Given the description of an element on the screen output the (x, y) to click on. 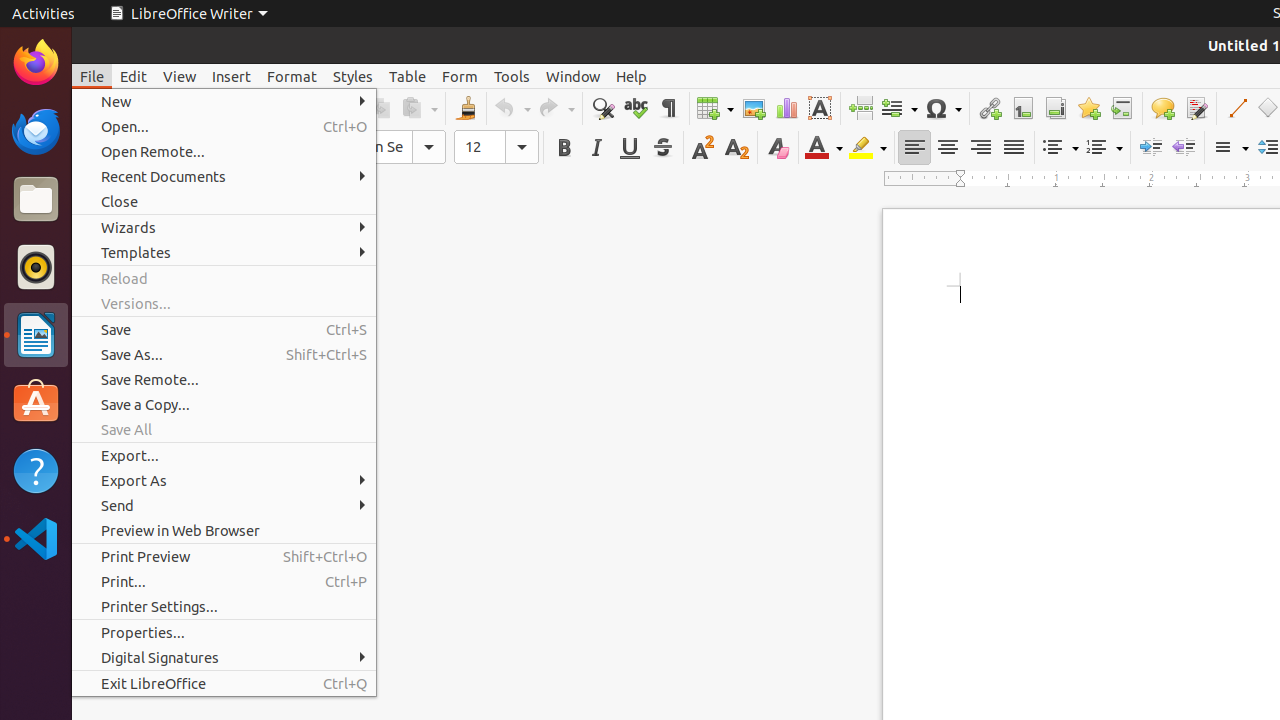
Wizards Element type: menu (224, 227)
Insert Element type: menu (231, 76)
Bold Element type: toggle-button (563, 147)
Underline Element type: push-button (629, 147)
Page Break Element type: push-button (860, 108)
